Given the description of an element on the screen output the (x, y) to click on. 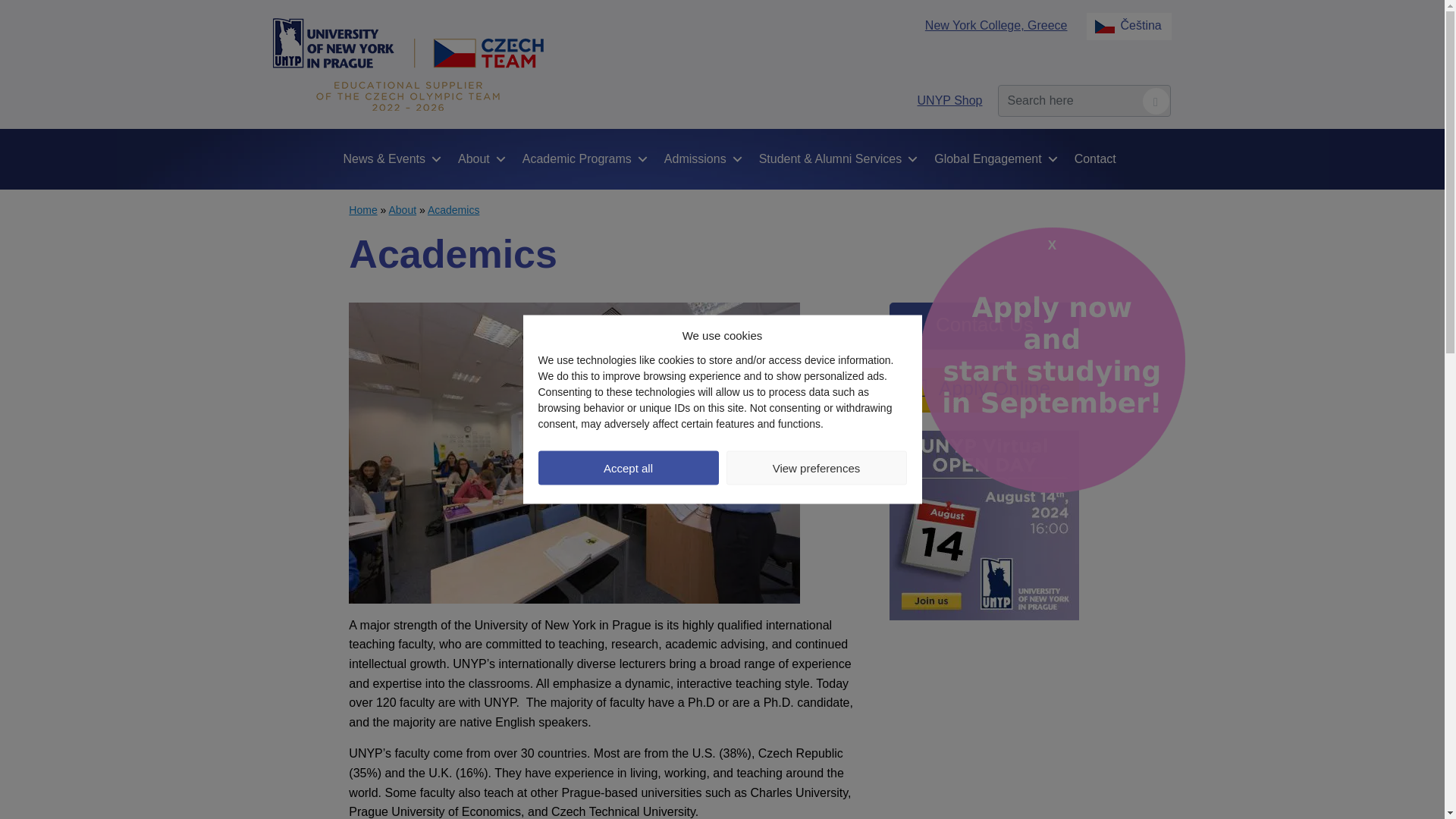
About (481, 158)
New York College, Greece (995, 24)
View preferences (816, 467)
UNYP Shop (949, 100)
Accept all (628, 467)
